Given the description of an element on the screen output the (x, y) to click on. 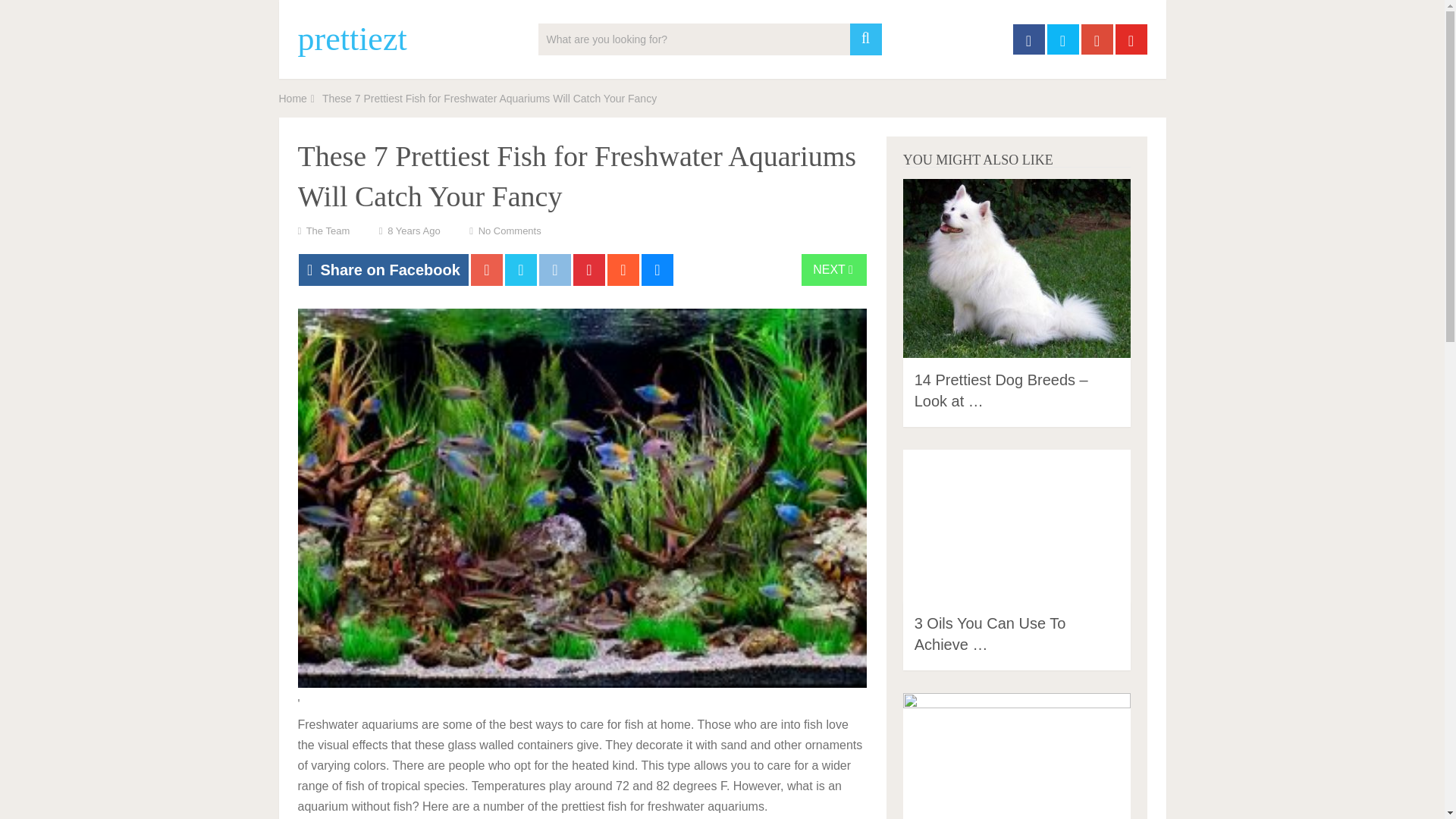
NEXT (834, 269)
The Team (327, 230)
Share on Facebook (383, 269)
No Comments (510, 230)
Home (293, 98)
prettiezt (351, 39)
Posts by The Team (327, 230)
